Given the description of an element on the screen output the (x, y) to click on. 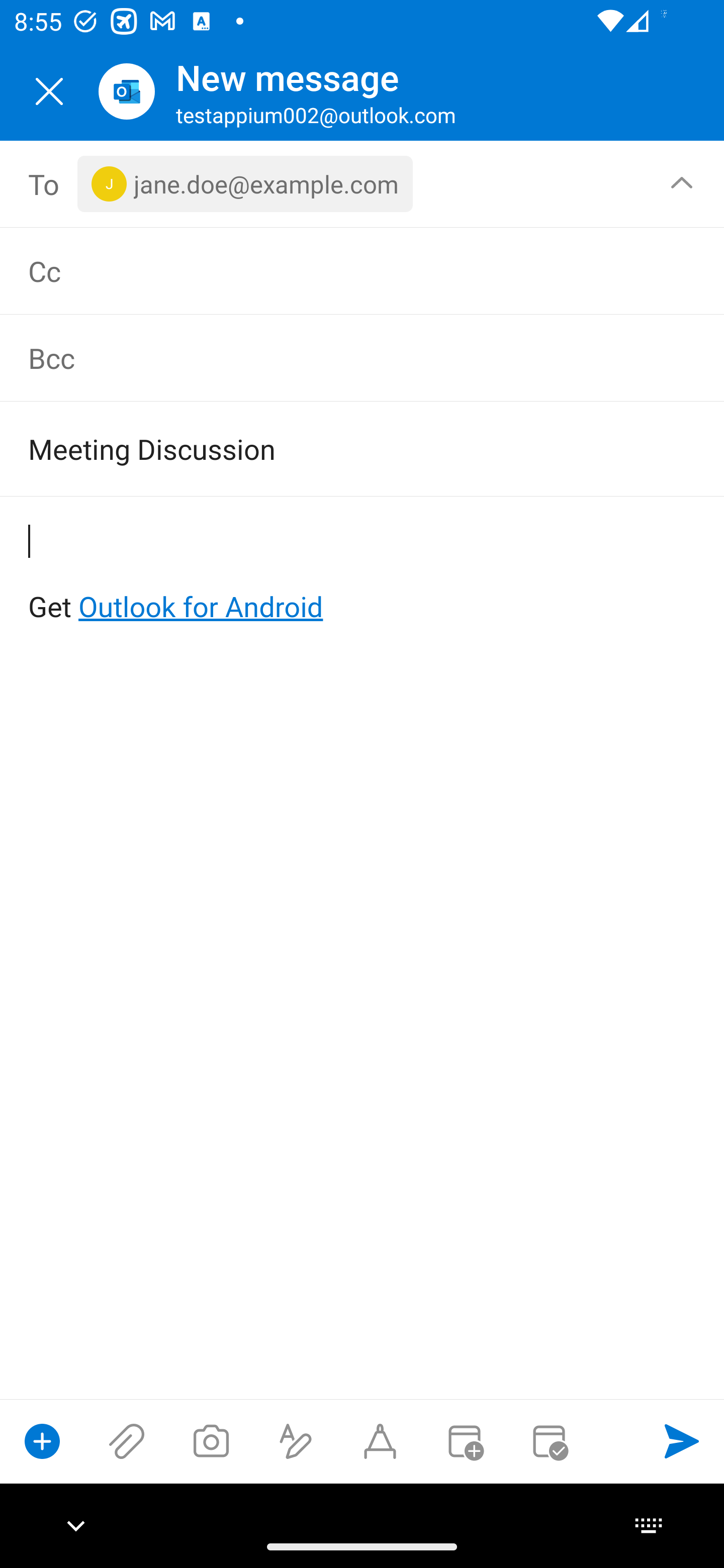
Close (49, 91)
To, 1 recipient <jane.doe@example.com> (362, 184)
Meeting Discussion (333, 448)


Get Outlook for Android (363, 573)
Show compose options (42, 1440)
Attach files (126, 1440)
Take a photo (210, 1440)
Show formatting options (295, 1440)
Start Ink compose (380, 1440)
Convert to event (464, 1440)
Send availability (548, 1440)
Send (681, 1440)
